Given the description of an element on the screen output the (x, y) to click on. 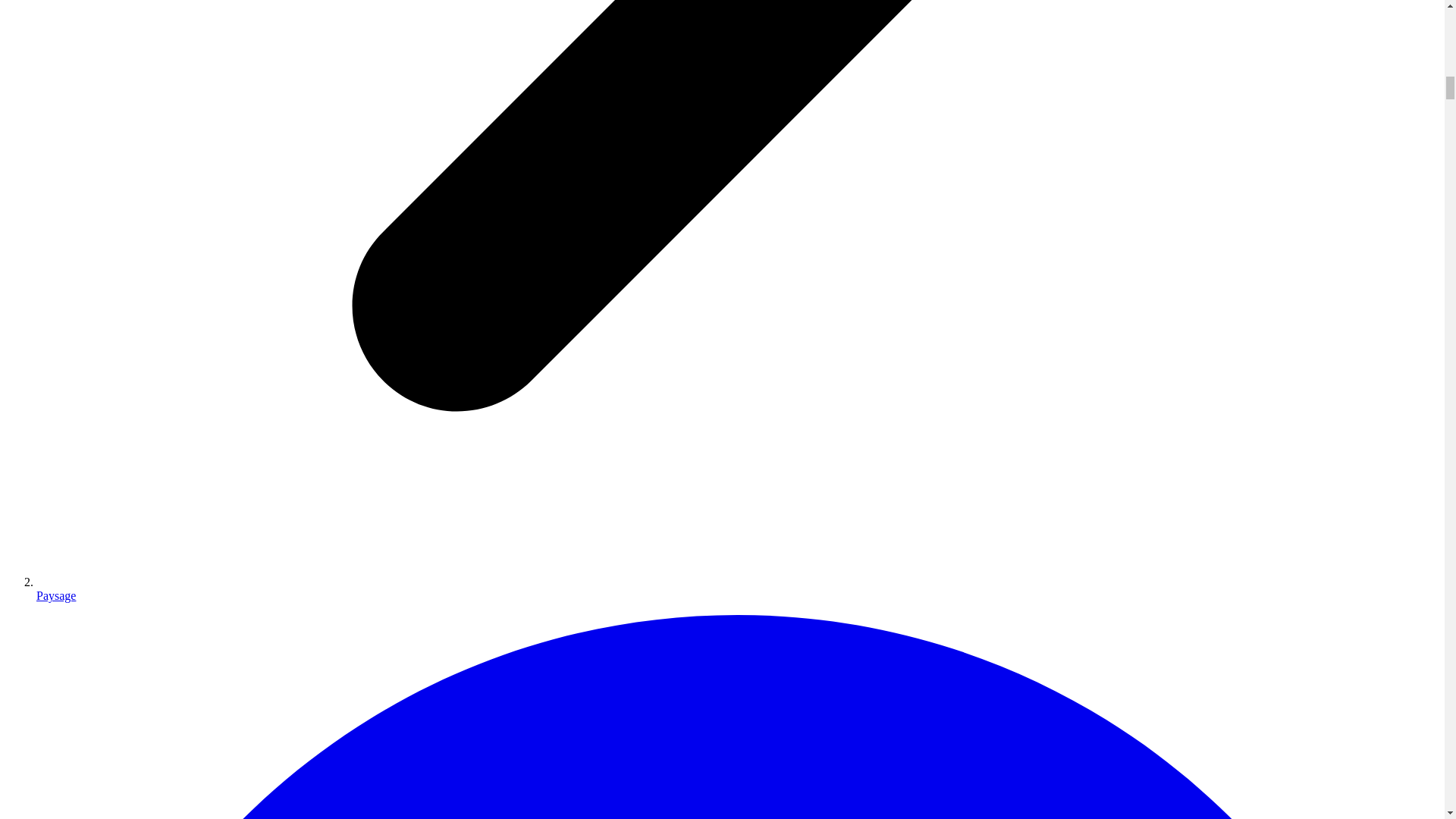
Paysage (55, 594)
